Given the description of an element on the screen output the (x, y) to click on. 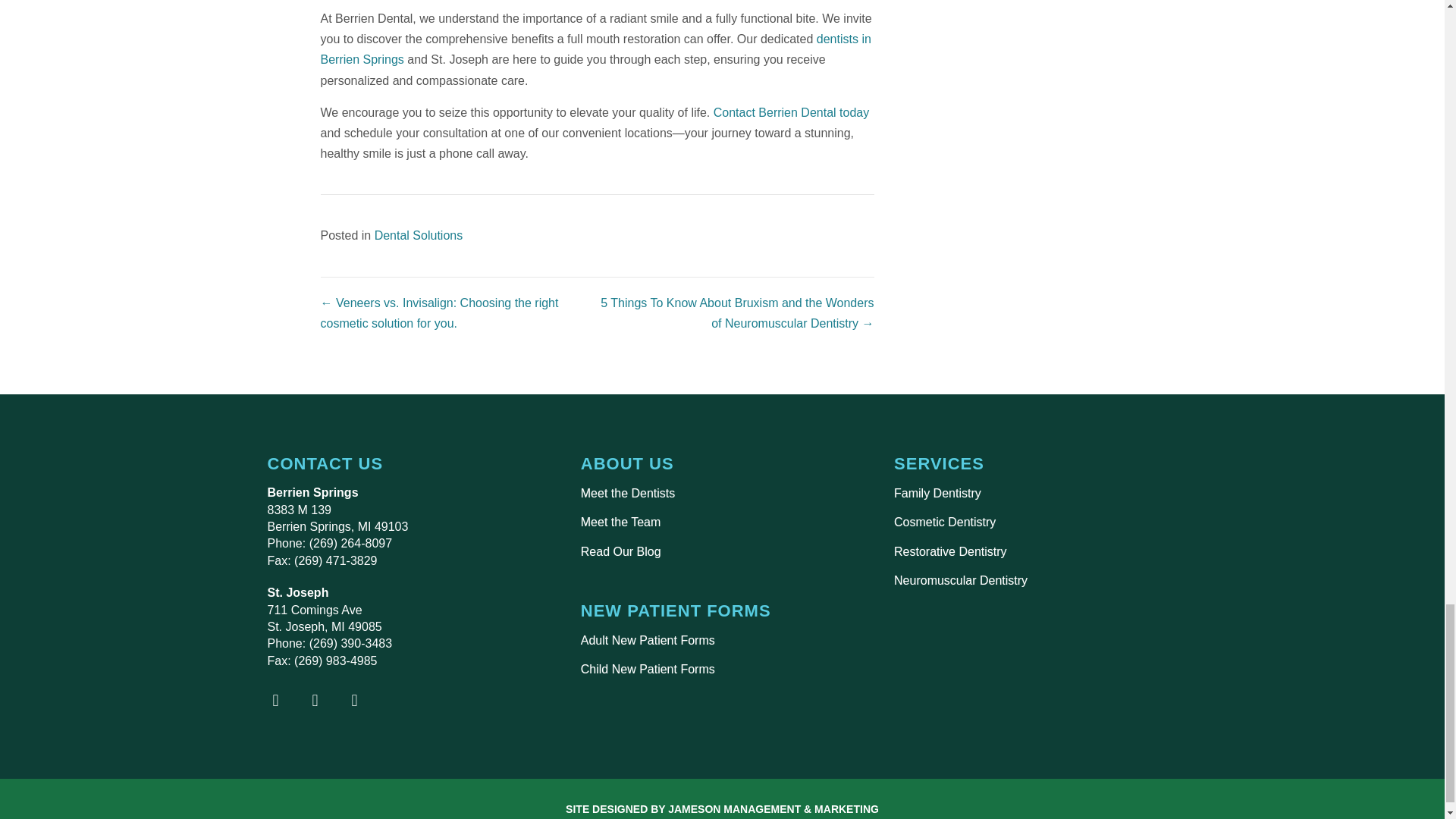
Contact Berrien Dental today (791, 112)
Dental Solutions (418, 235)
dentists in Berrien Springs (595, 49)
Berrien Springs (595, 49)
